Given the description of an element on the screen output the (x, y) to click on. 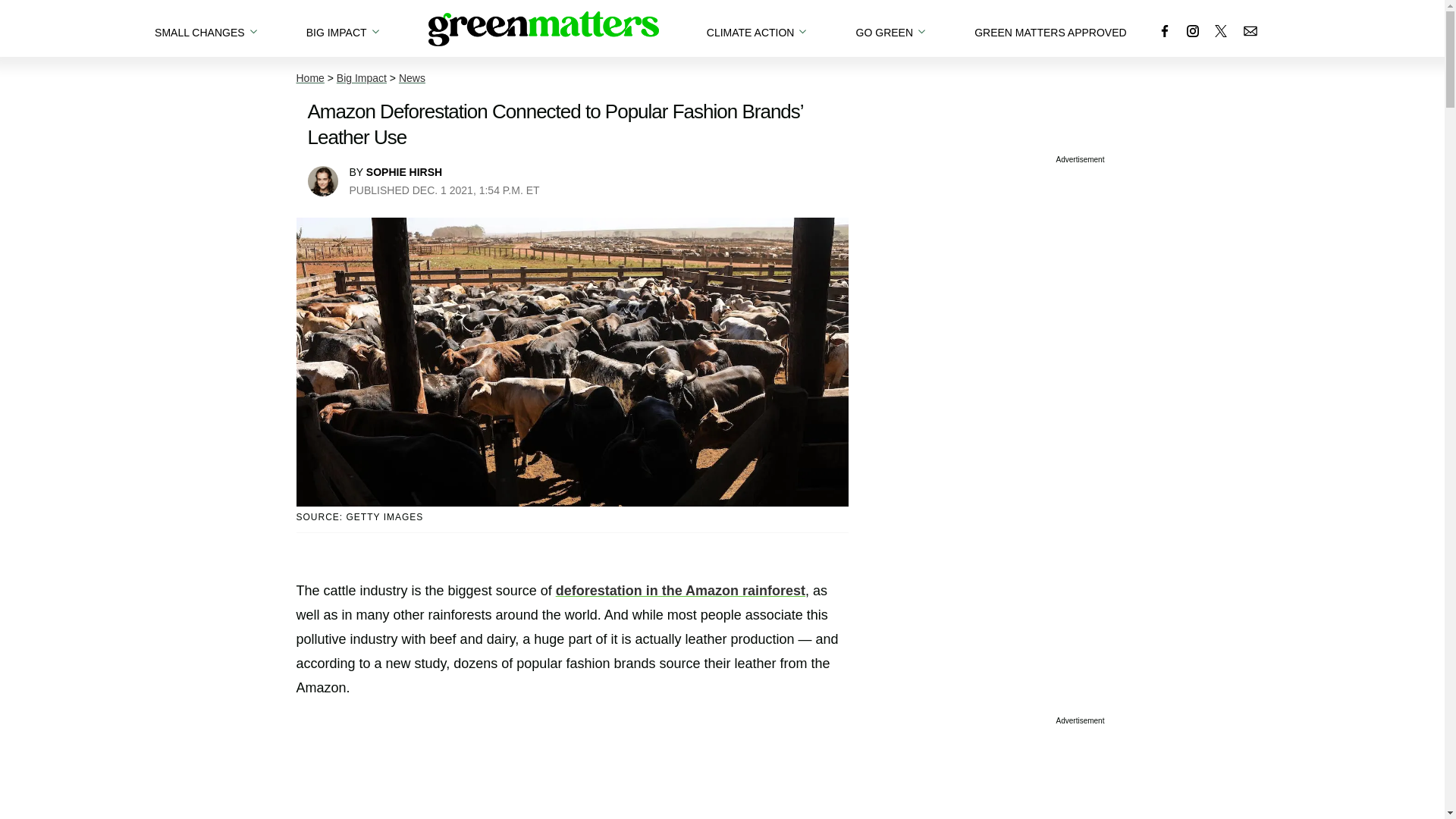
GREEN MATTERS APPROVED (1049, 27)
LINK TO INSTAGRAM (1192, 30)
LINK TO X (1220, 30)
LINK TO FACEBOOK (1164, 30)
LINK TO EMAIL SUBSCRIBE (1250, 30)
